Given the description of an element on the screen output the (x, y) to click on. 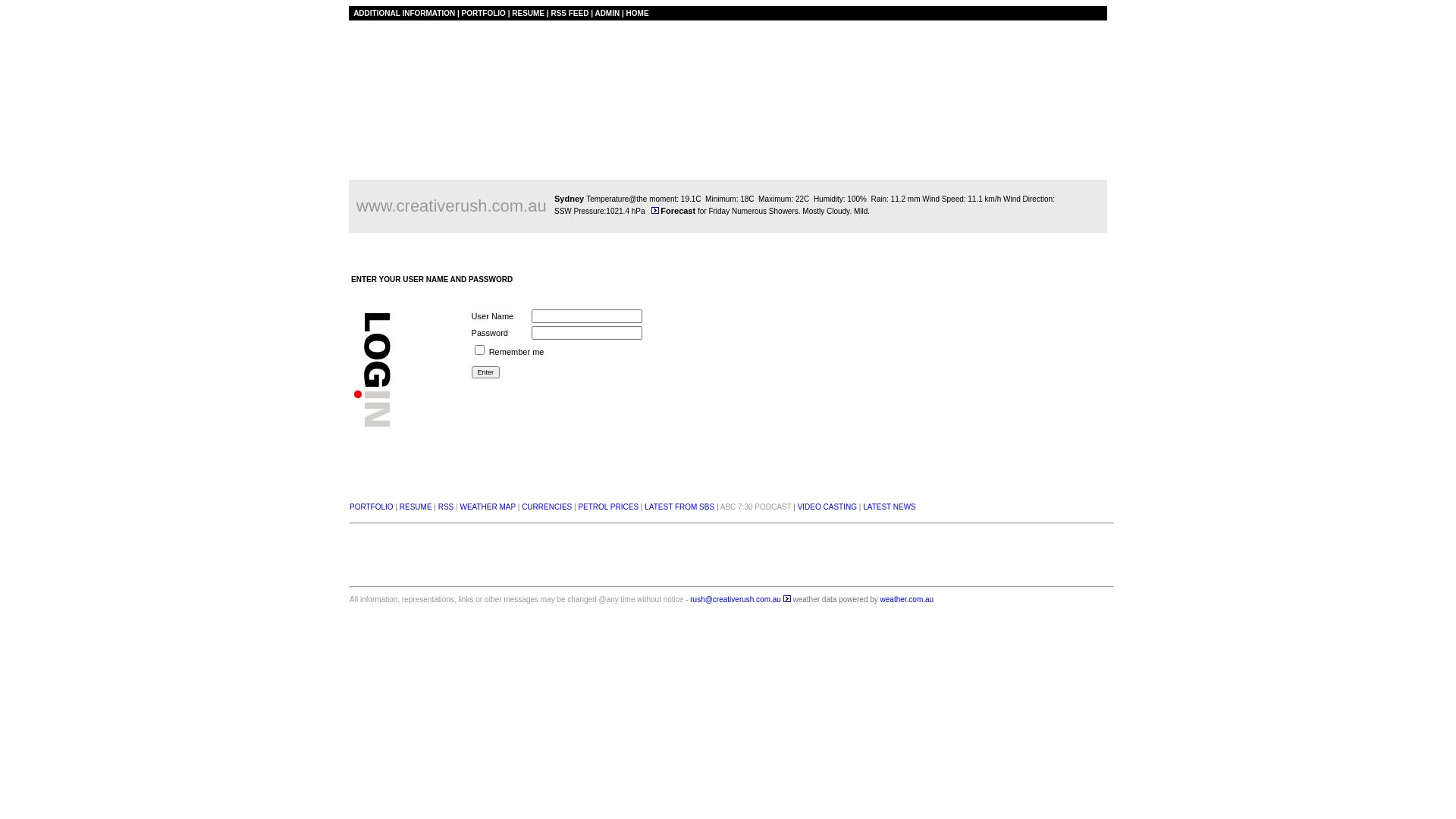
PORTFOLIO Element type: text (371, 506)
weather.com.au Element type: text (905, 599)
RESUME Element type: text (527, 13)
LATEST FROM SBS Element type: text (679, 506)
RESUME Element type: text (415, 506)
ADDITIONAL INFORMATION Element type: text (404, 13)
RSS Element type: text (446, 506)
LATEST NEWS Element type: text (889, 506)
VIDEO CASTING Element type: text (828, 506)
RSS FEED Element type: text (569, 13)
Enter Element type: text (485, 371)
PETROL PRICES Element type: text (607, 506)
CURRENCIES Element type: text (546, 506)
HOME Element type: text (637, 13)
WEATHER MAP Element type: text (487, 506)
ADMIN Element type: text (606, 13)
PORTFOLIO Element type: text (483, 13)
rush@creativerush.com.au Element type: text (735, 599)
